Given the description of an element on the screen output the (x, y) to click on. 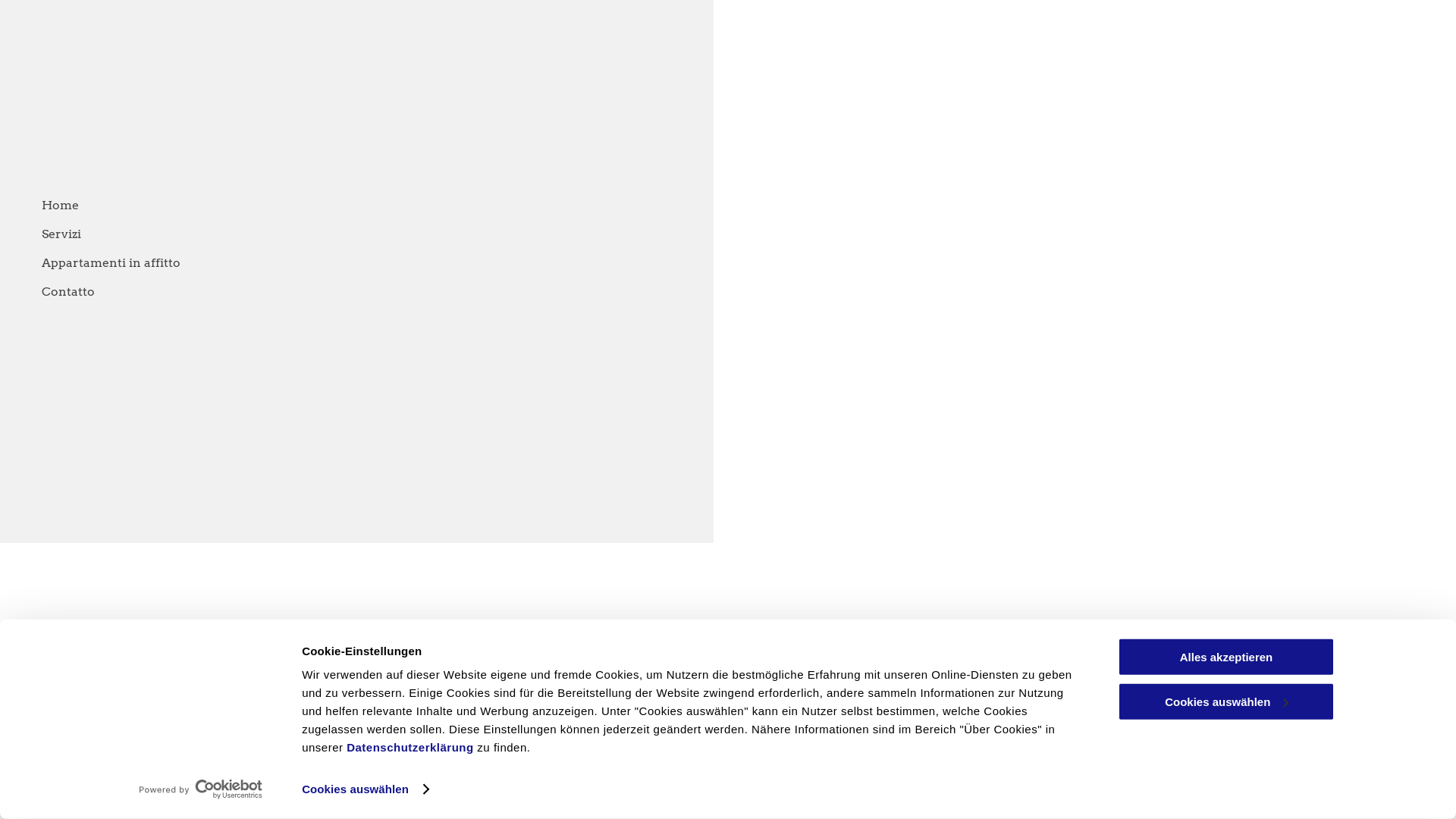
Appartamenti in affitto Element type: text (398, 262)
Aminra SA Element type: text (758, 639)
Servizi Element type: text (398, 233)
Servizi Element type: text (891, 780)
Home Element type: text (830, 780)
Aminra SA Element type: text (728, 748)
Home Element type: text (398, 205)
Contatto Element type: text (1121, 780)
Alles akzeptieren Element type: text (1225, 656)
Appartamenti in affitto Element type: text (1003, 780)
Contatto Element type: text (398, 291)
